Given the description of an element on the screen output the (x, y) to click on. 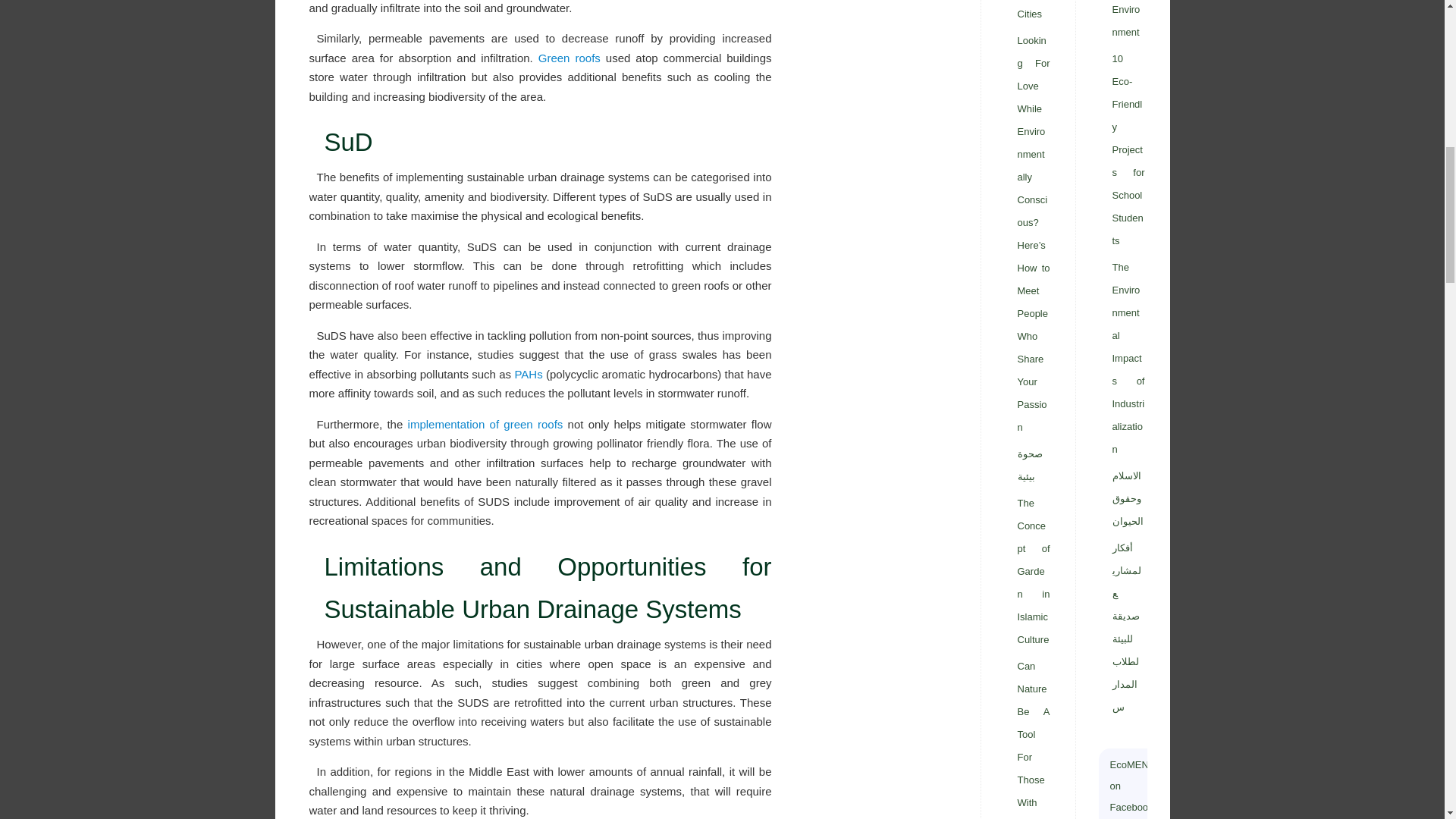
Green roofs (568, 57)
implementation of green roofs (485, 423)
PAHs (527, 373)
